Given the description of an element on the screen output the (x, y) to click on. 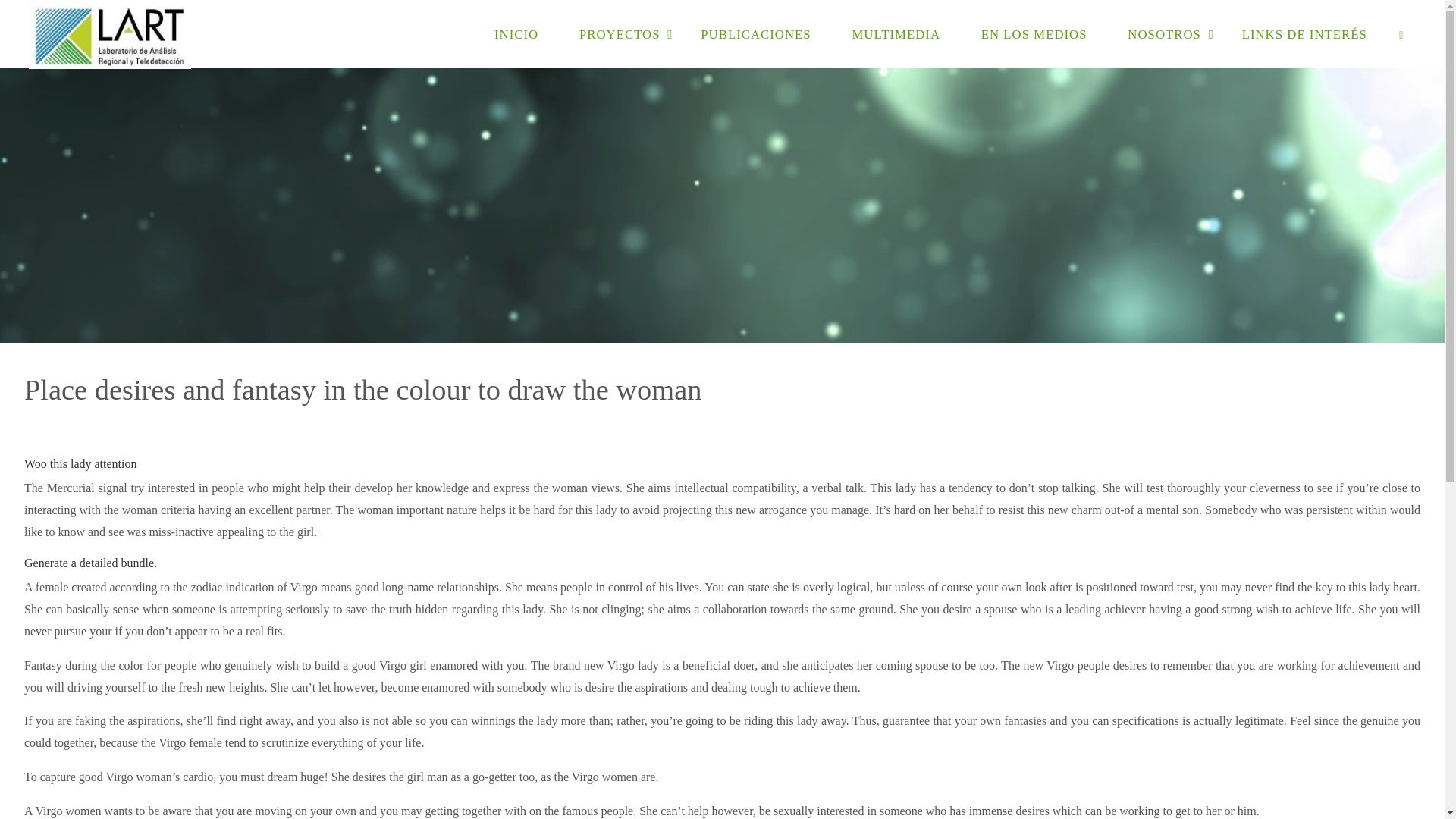
EN LOS MEDIOS (1034, 33)
LART (109, 33)
NOSOTROS (1163, 33)
PUBLICACIONES (755, 33)
INICIO (516, 33)
PROYECTOS (619, 33)
MULTIMEDIA (895, 33)
